Given the description of an element on the screen output the (x, y) to click on. 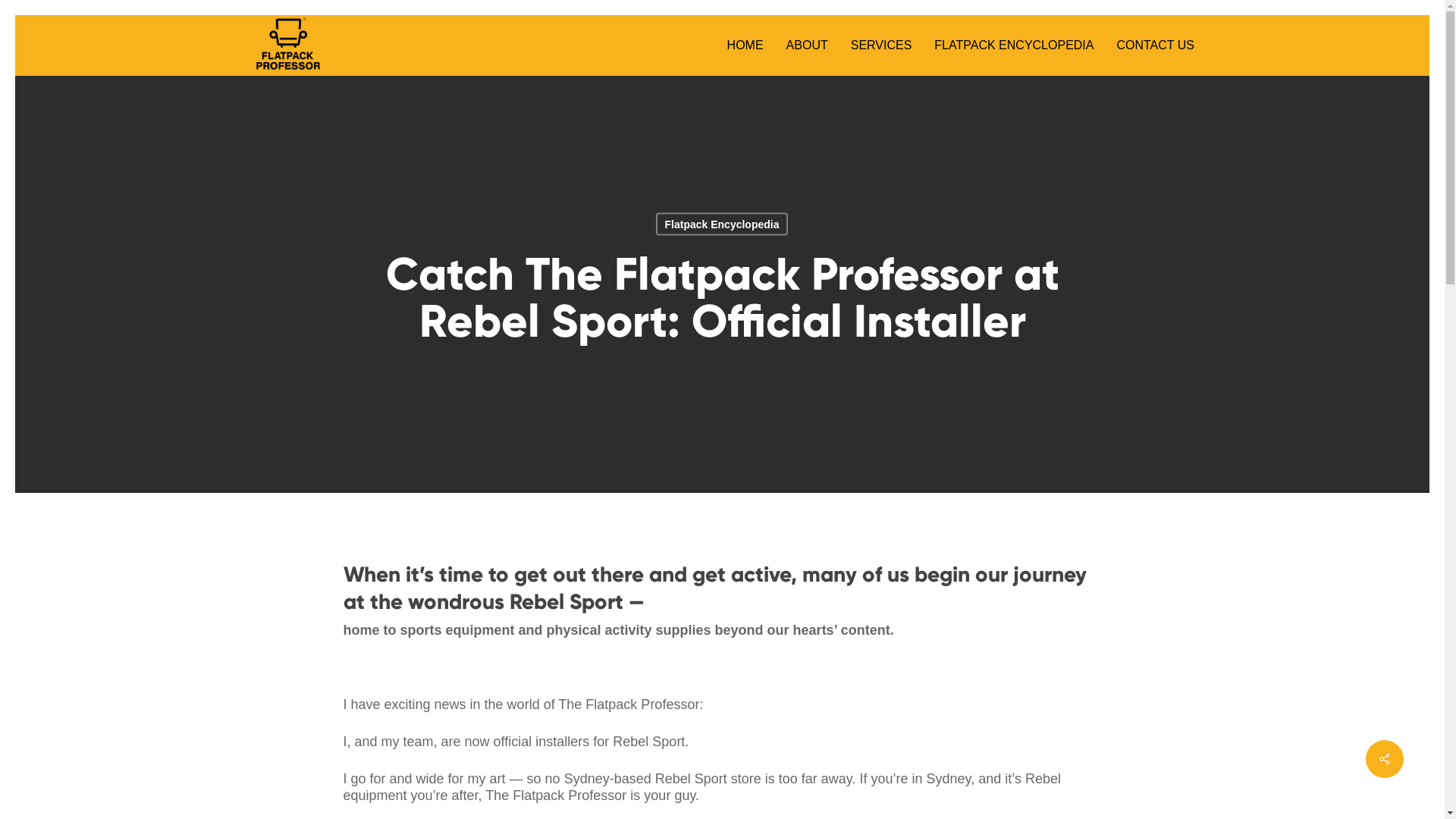
SERVICES Element type: text (881, 45)
CONTACT US Element type: text (1149, 45)
Flatpack Encyclopedia Element type: text (721, 223)
ABOUT Element type: text (807, 45)
HOME Element type: text (745, 45)
FLATPACK ENCYCLOPEDIA Element type: text (1013, 45)
